Given the description of an element on the screen output the (x, y) to click on. 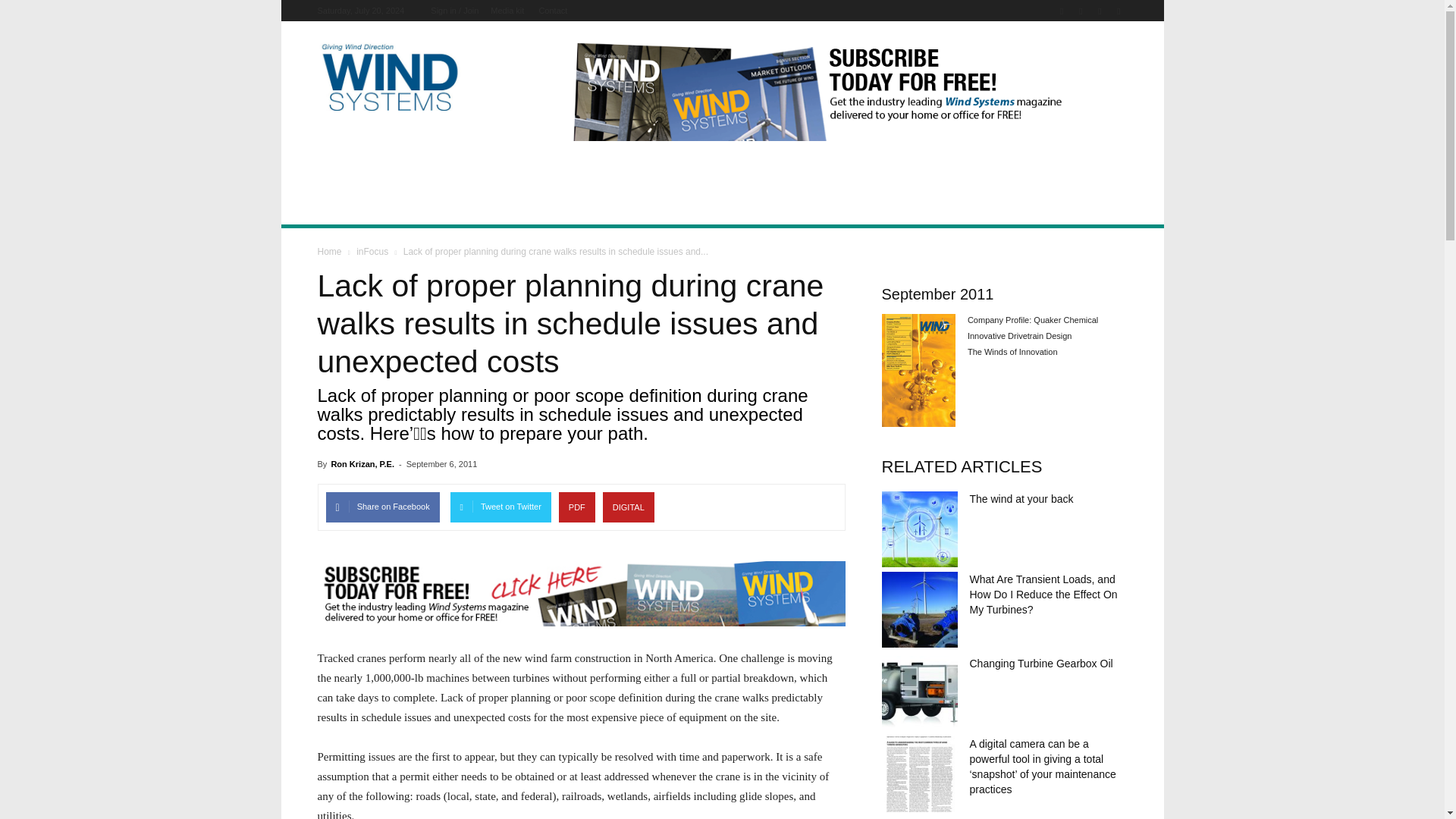
Media kit (507, 10)
Contact (552, 10)
